Given the description of an element on the screen output the (x, y) to click on. 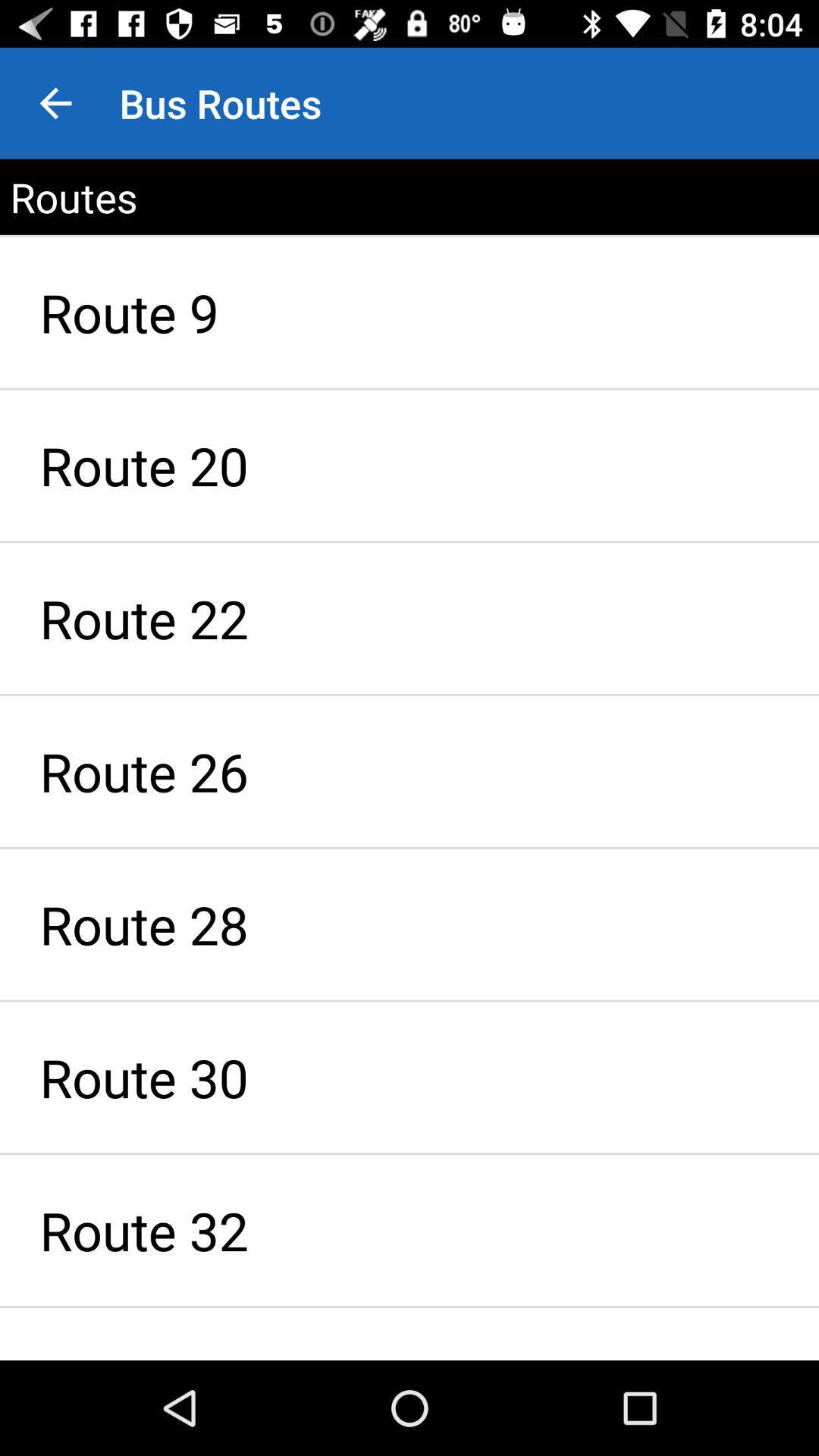
scroll until the route 9 (409, 312)
